Given the description of an element on the screen output the (x, y) to click on. 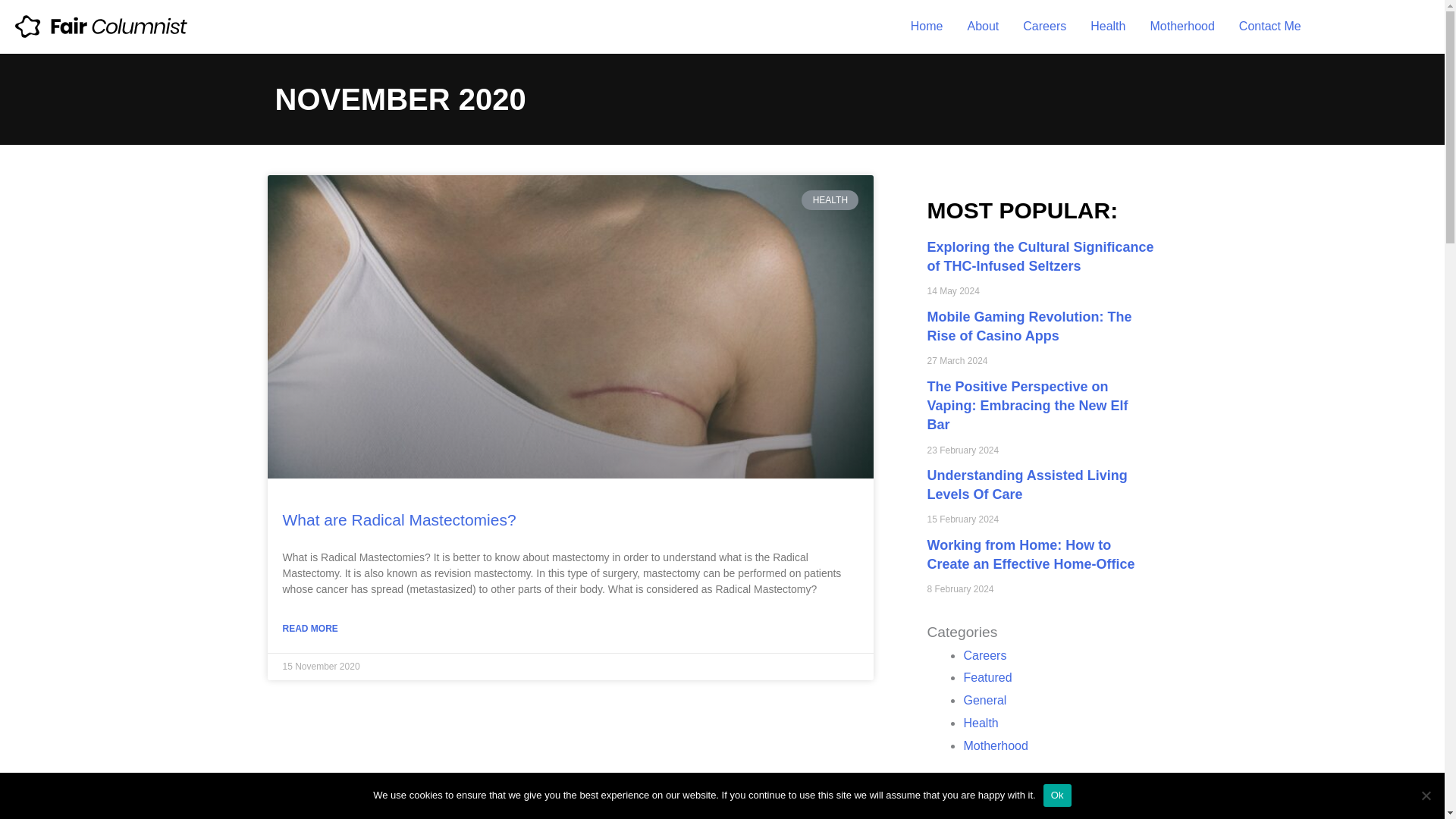
Mobile Gaming Revolution: The Rise of Casino Apps (1028, 326)
Health (979, 722)
General (984, 699)
BLOG (1378, 26)
Careers (984, 655)
READ MORE (309, 628)
Home (926, 26)
About (982, 26)
Careers (1044, 26)
No (1425, 795)
Contact Me (1270, 26)
Motherhood (1181, 26)
Motherhood (994, 745)
Understanding Assisted Living Levels Of Care (1026, 484)
